Given the description of an element on the screen output the (x, y) to click on. 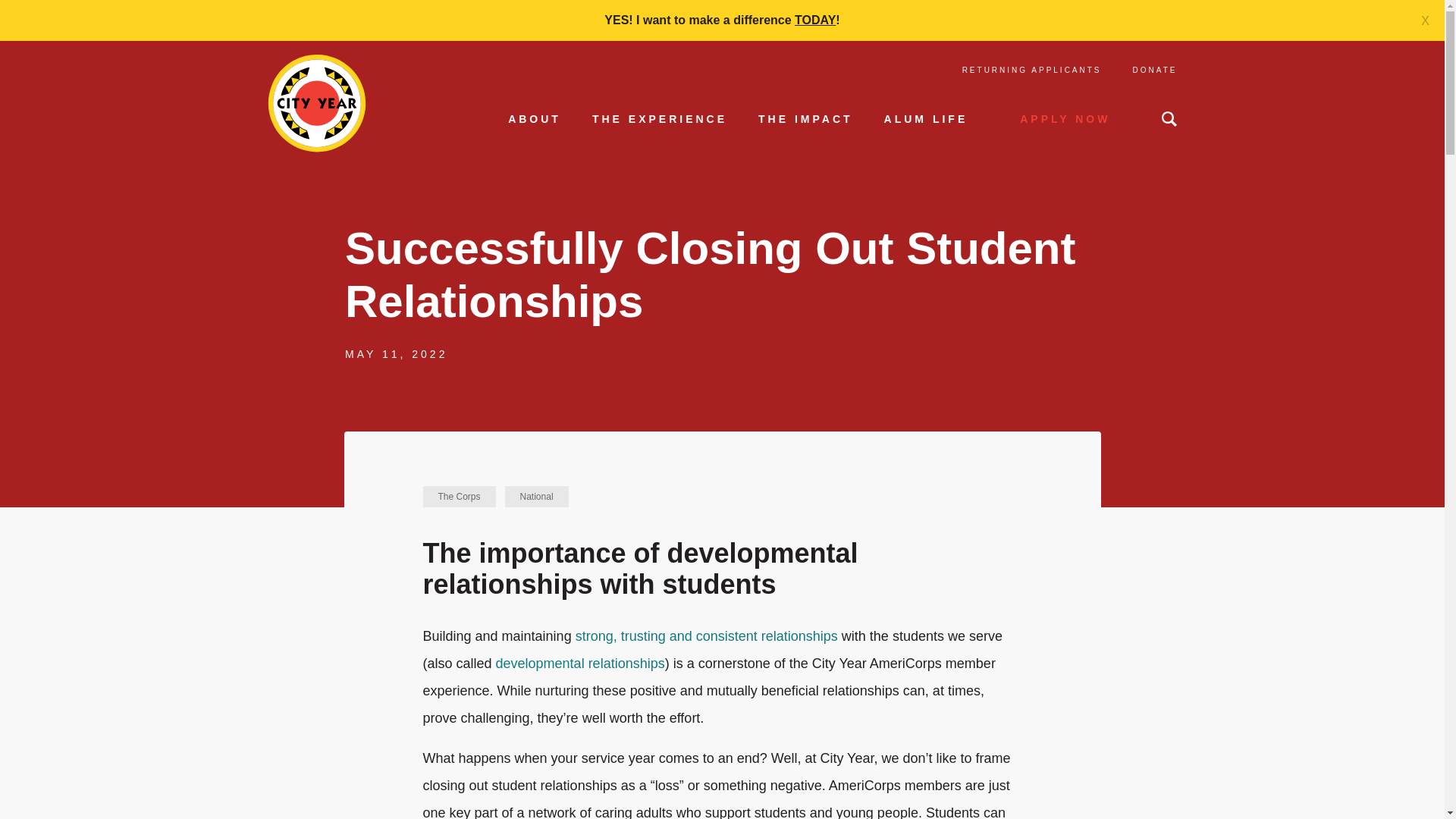
RETURNING APPLICANTS (1032, 70)
ABOUT (534, 124)
Apply Now (1064, 119)
THE IMPACT (805, 124)
perform the search (1168, 118)
THE EXPERIENCE (659, 124)
City Year (315, 103)
The Corps (459, 496)
APPLY NOW (1064, 119)
TODAY (814, 19)
